Given the description of an element on the screen output the (x, y) to click on. 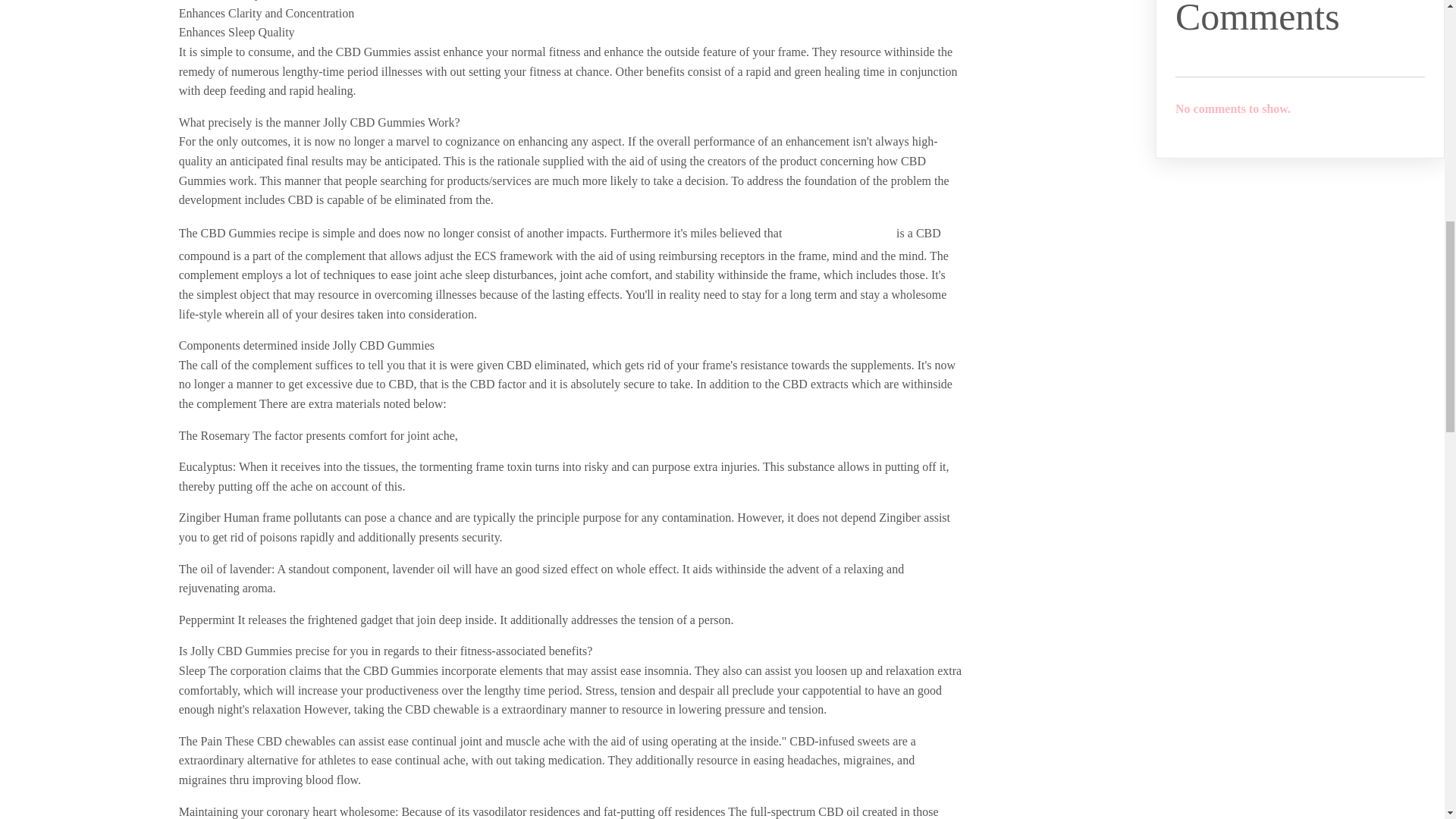
JOLLY CBD GUMMIES (838, 233)
